Given the description of an element on the screen output the (x, y) to click on. 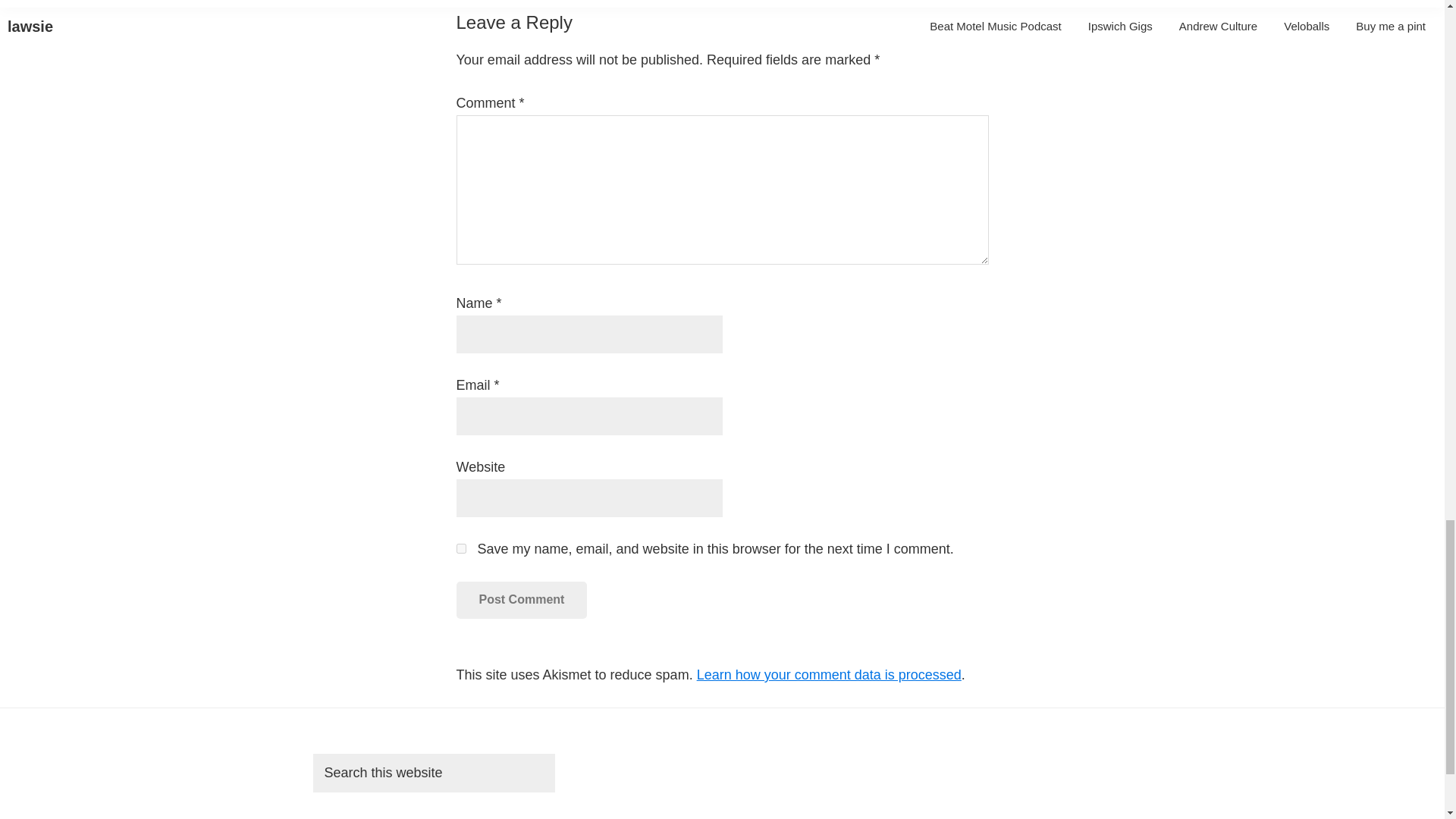
Learn how your comment data is processed (828, 674)
yes (461, 548)
Post Comment (522, 599)
Post Comment (522, 599)
